Given the description of an element on the screen output the (x, y) to click on. 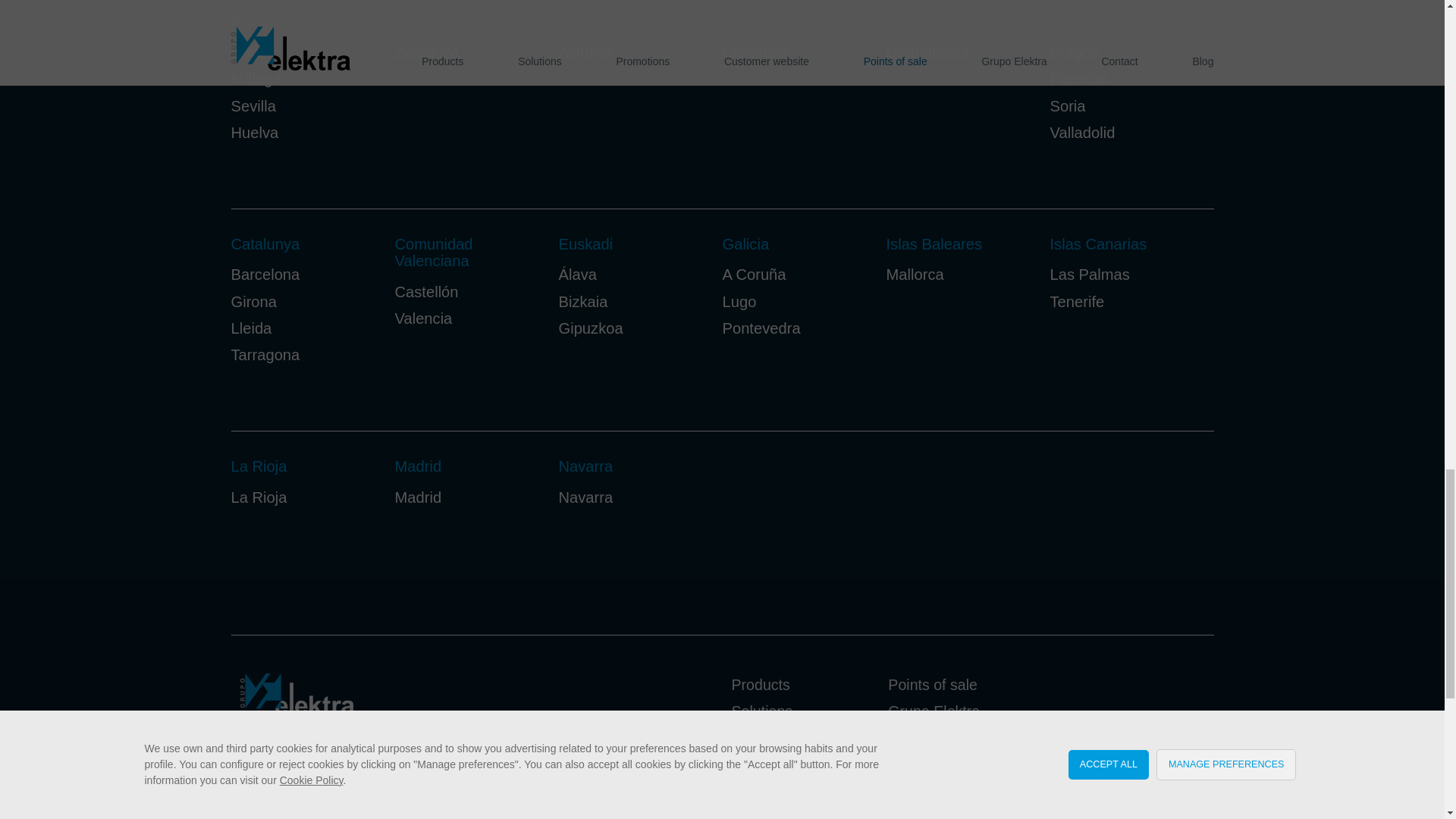
Zaragoza (426, 52)
Huelva (254, 132)
Sevilla (252, 105)
